Given the description of an element on the screen output the (x, y) to click on. 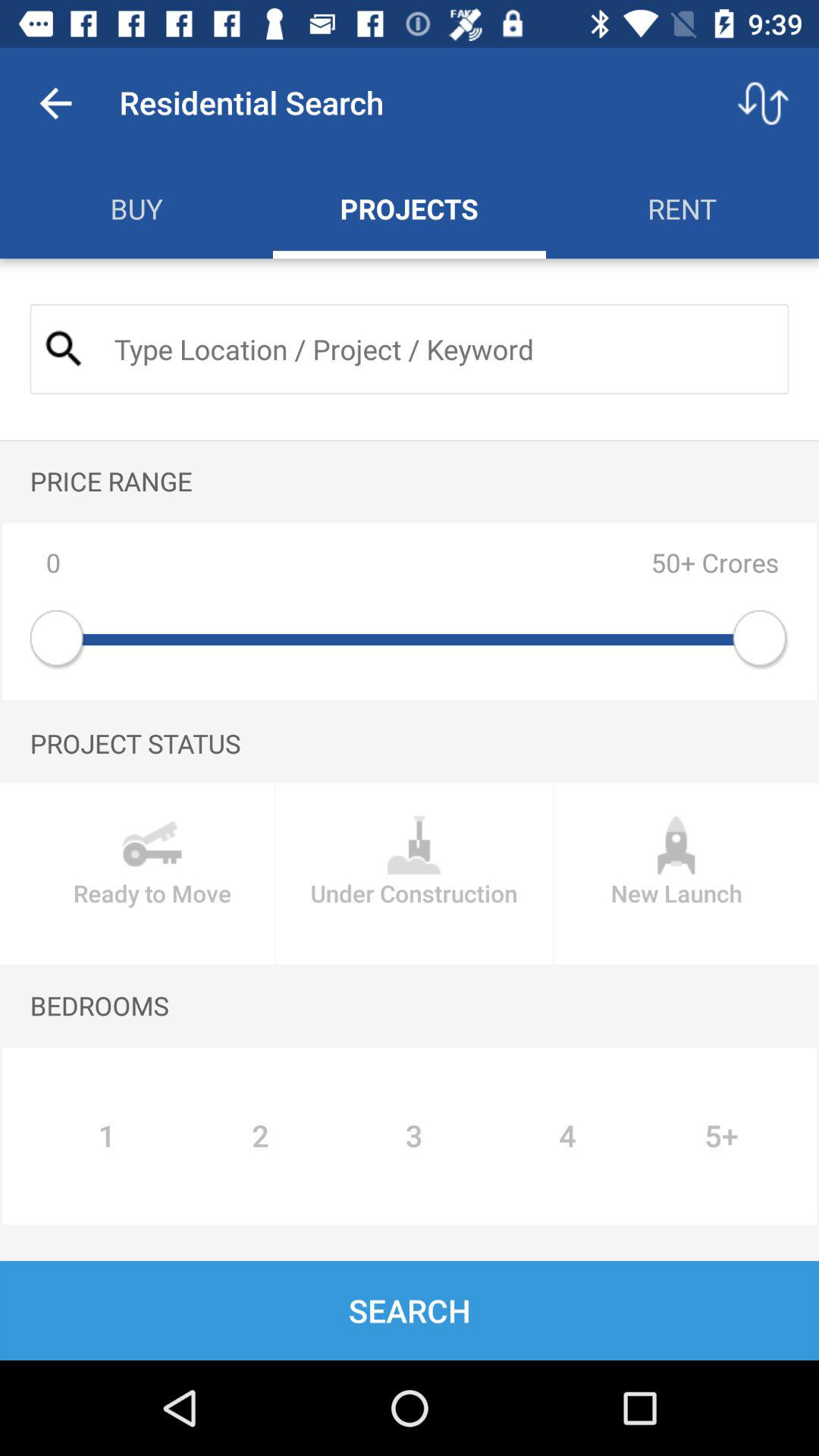
scroll to ready to move item (152, 873)
